Given the description of an element on the screen output the (x, y) to click on. 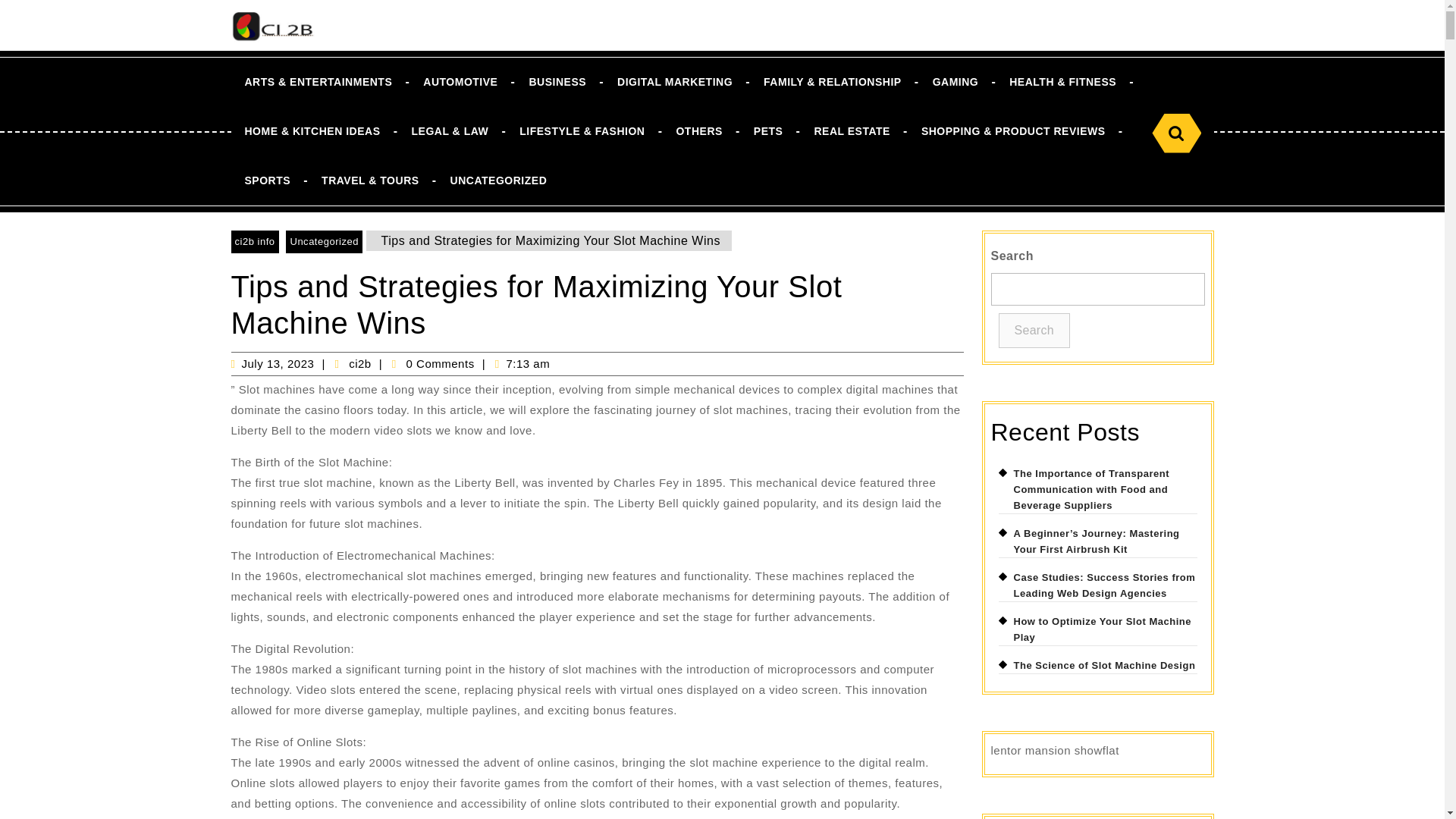
Search (1176, 133)
Search (1176, 133)
AUTOMOTIVE (460, 82)
SPORTS (267, 180)
OTHERS (698, 131)
PETS (767, 131)
BUSINESS (557, 82)
Search (1176, 133)
REAL ESTATE (851, 131)
DIGITAL MARKETING (674, 82)
GAMING (955, 82)
UNCATEGORIZED (498, 180)
ci2b info (254, 241)
